Given the description of an element on the screen output the (x, y) to click on. 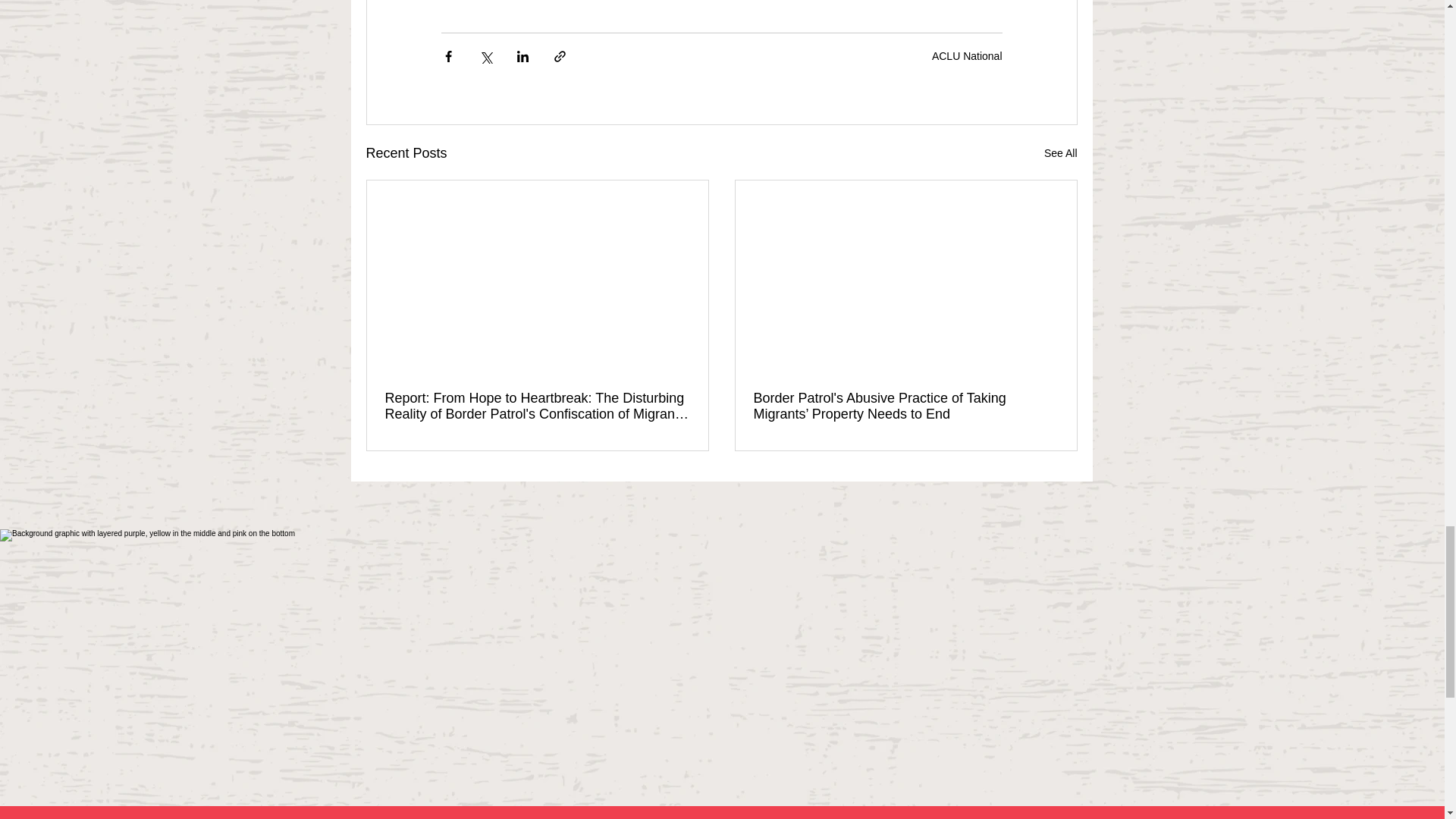
See All (1060, 153)
ACLU National (967, 55)
